Given the description of an element on the screen output the (x, y) to click on. 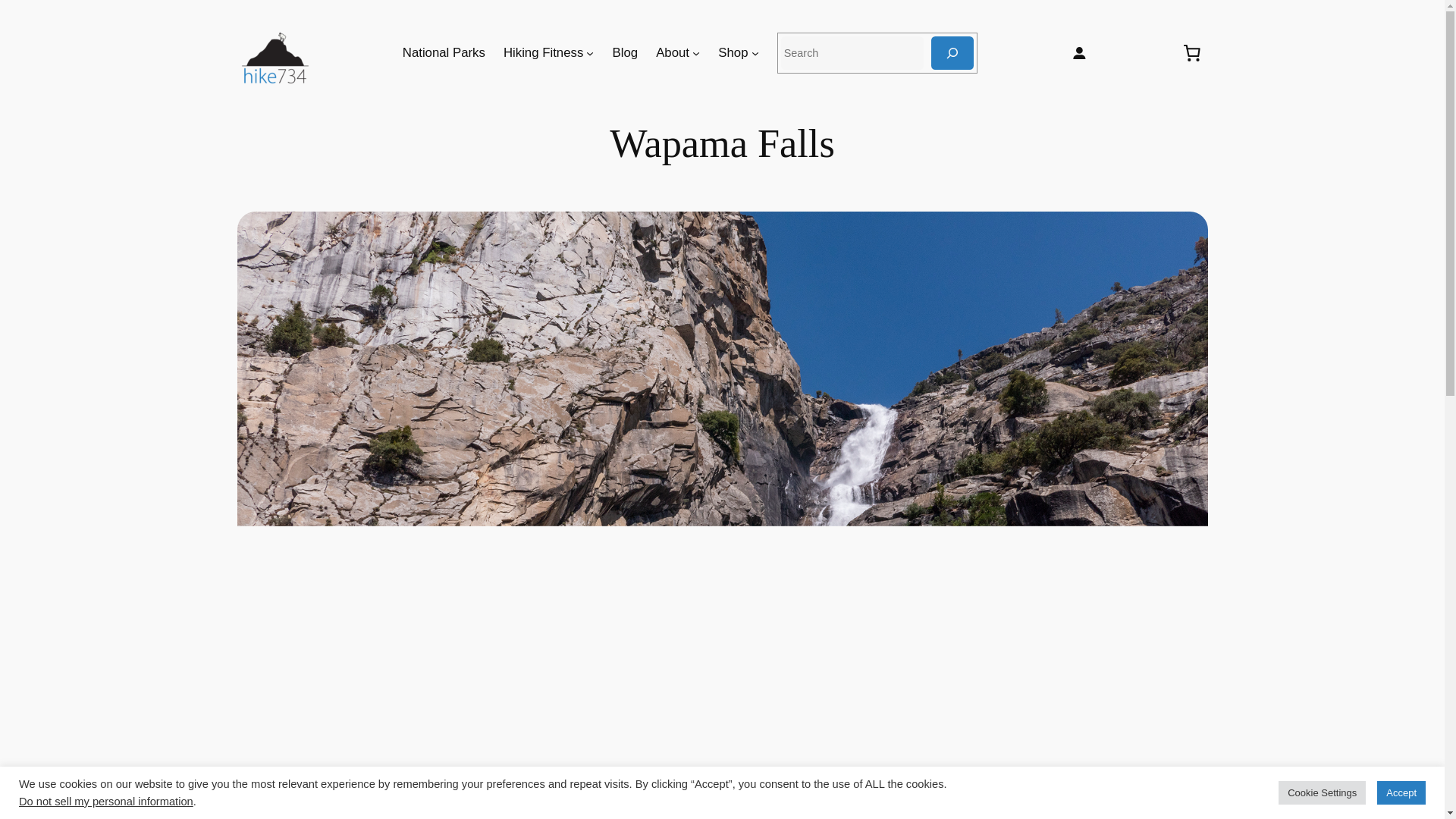
About (672, 53)
Shop (732, 53)
Blog (625, 53)
Hiking Fitness Posts (543, 53)
National Parks (443, 53)
Hiking Fitness (543, 53)
